Given the description of an element on the screen output the (x, y) to click on. 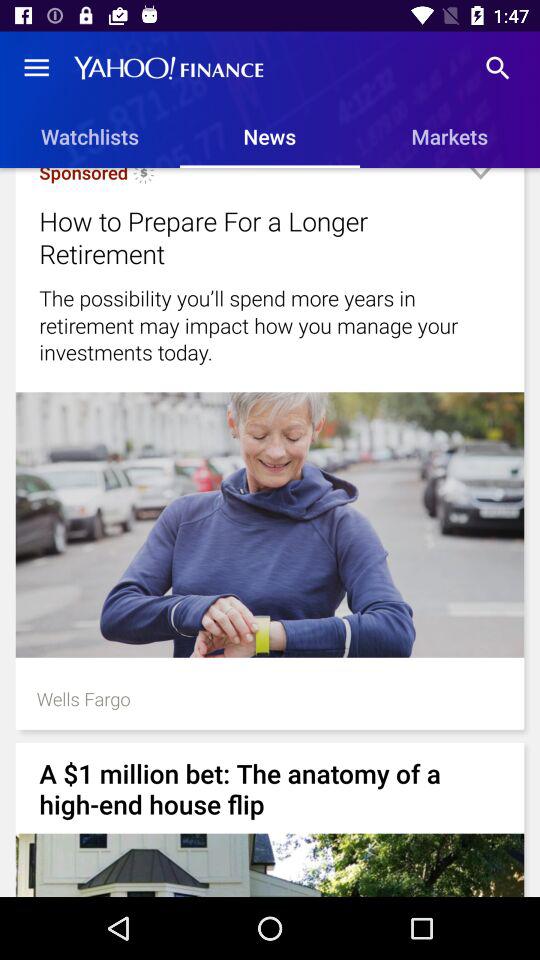
turn on icon next to sponsored icon (143, 179)
